Given the description of an element on the screen output the (x, y) to click on. 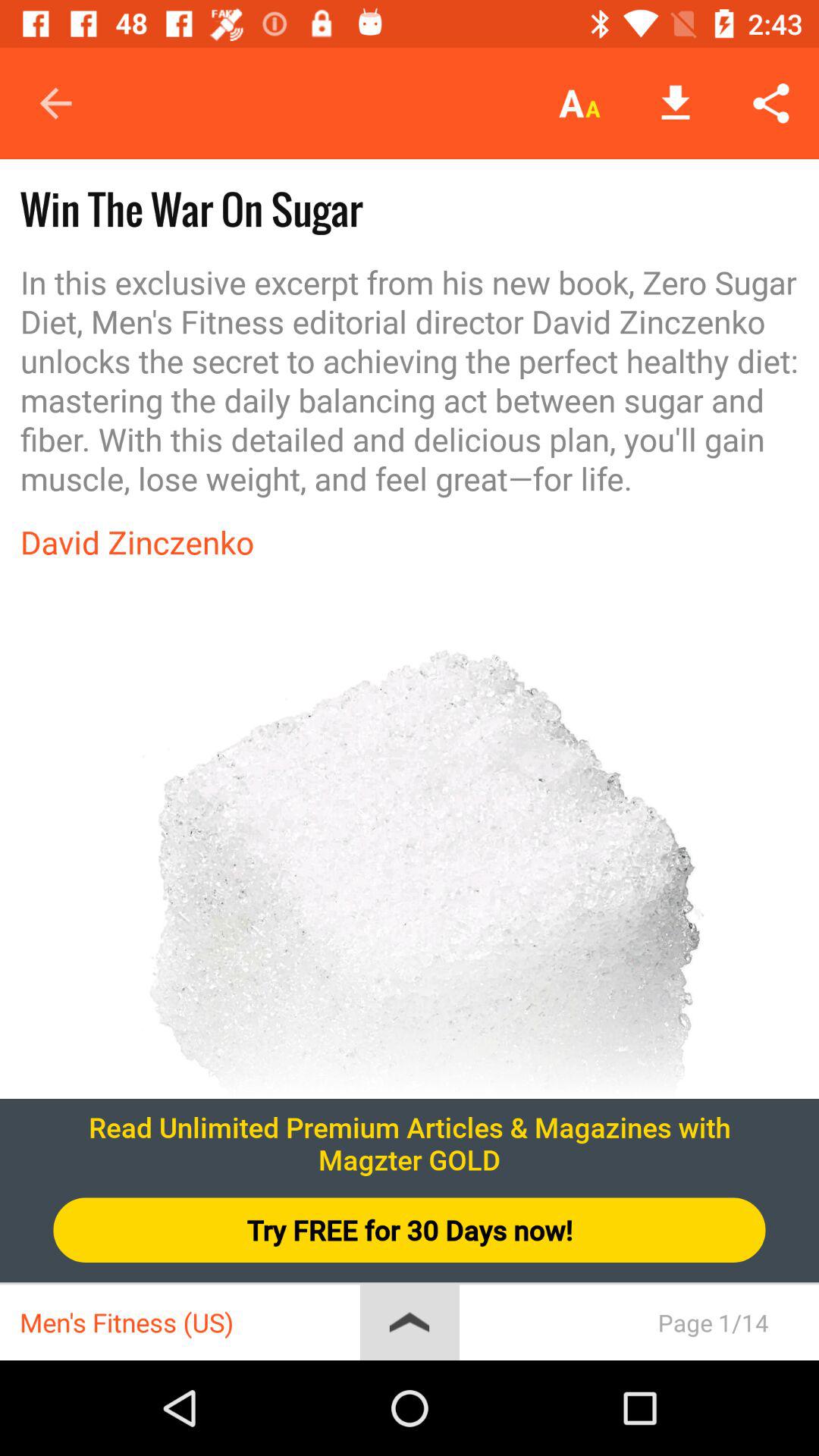
open the item at the center (409, 938)
